Given the description of an element on the screen output the (x, y) to click on. 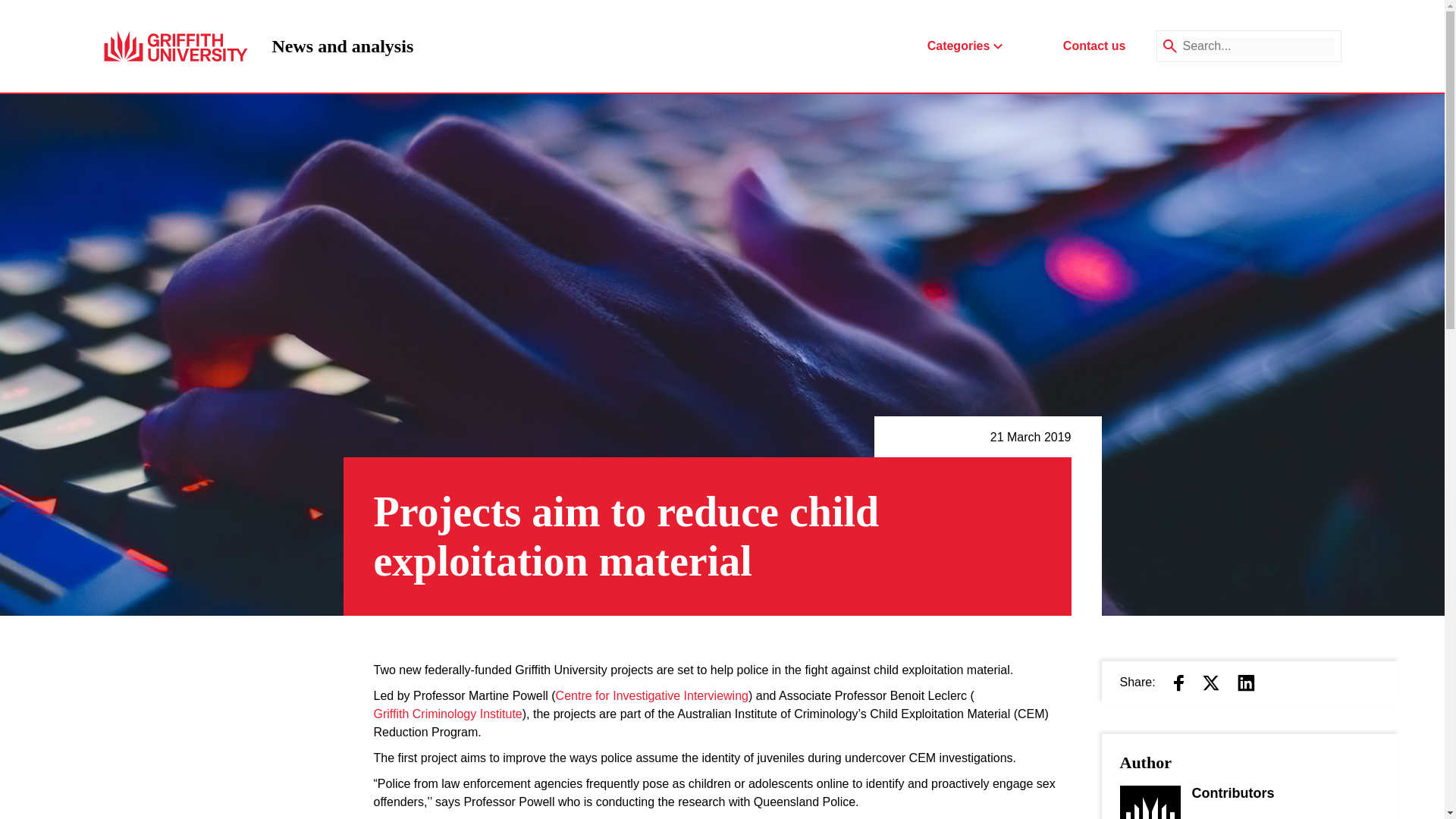
Griffith Criminology Institute (446, 714)
Centre for Investigative Interviewing (652, 696)
Contact us (341, 46)
